Given the description of an element on the screen output the (x, y) to click on. 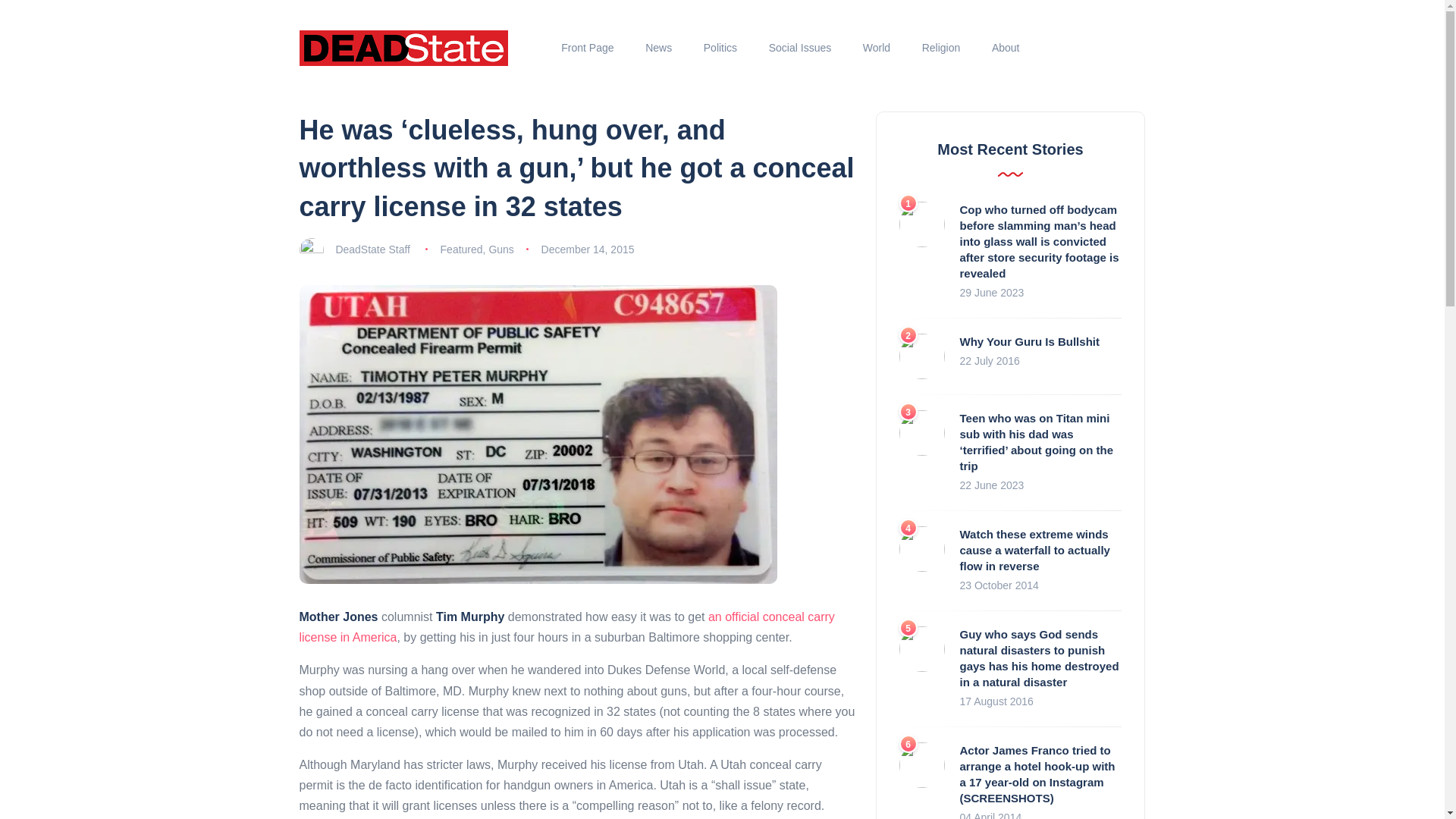
About (1005, 47)
World (876, 47)
Why Your Guru Is Bullshit (1029, 341)
News (657, 47)
Religion (940, 47)
Featured (462, 249)
Front Page (588, 47)
Guns (500, 249)
Politics (719, 47)
an official conceal carry license in America (566, 626)
Posts by DeadState Staff (372, 249)
DeadState Staff (372, 249)
Social Issues (799, 47)
